Given the description of an element on the screen output the (x, y) to click on. 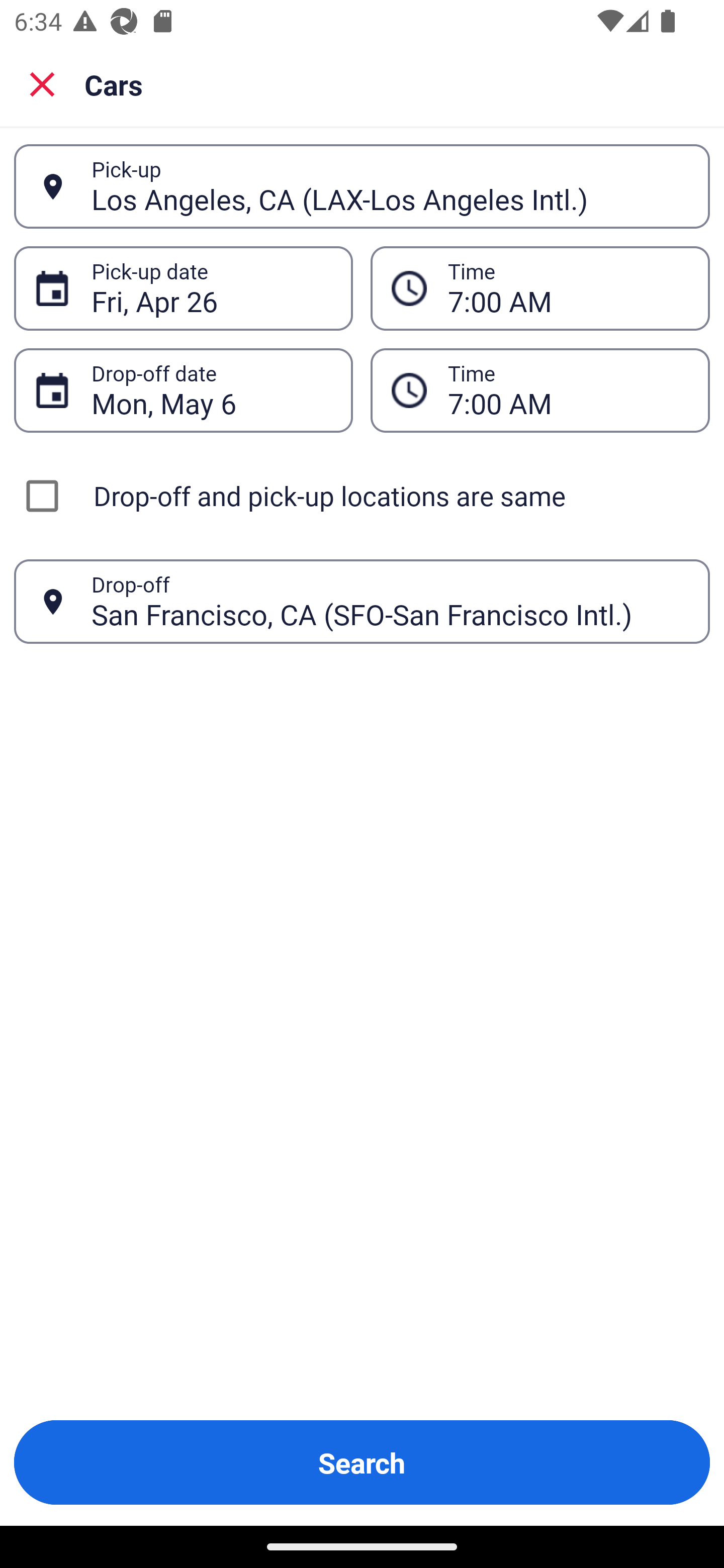
Close search screen (41, 83)
Los Angeles, CA (LAX-Los Angeles Intl.) Pick-up (361, 186)
Los Angeles, CA (LAX-Los Angeles Intl.) (389, 186)
Fri, Apr 26 Pick-up date (183, 288)
7:00 AM (540, 288)
Fri, Apr 26 (211, 288)
7:00 AM (568, 288)
Mon, May 6 Drop-off date (183, 390)
7:00 AM (540, 390)
Mon, May 6 (211, 390)
7:00 AM (568, 390)
Drop-off and pick-up locations are same (361, 495)
San Francisco, CA (SFO-San Francisco Intl.) (389, 601)
Search Button Search (361, 1462)
